Given the description of an element on the screen output the (x, y) to click on. 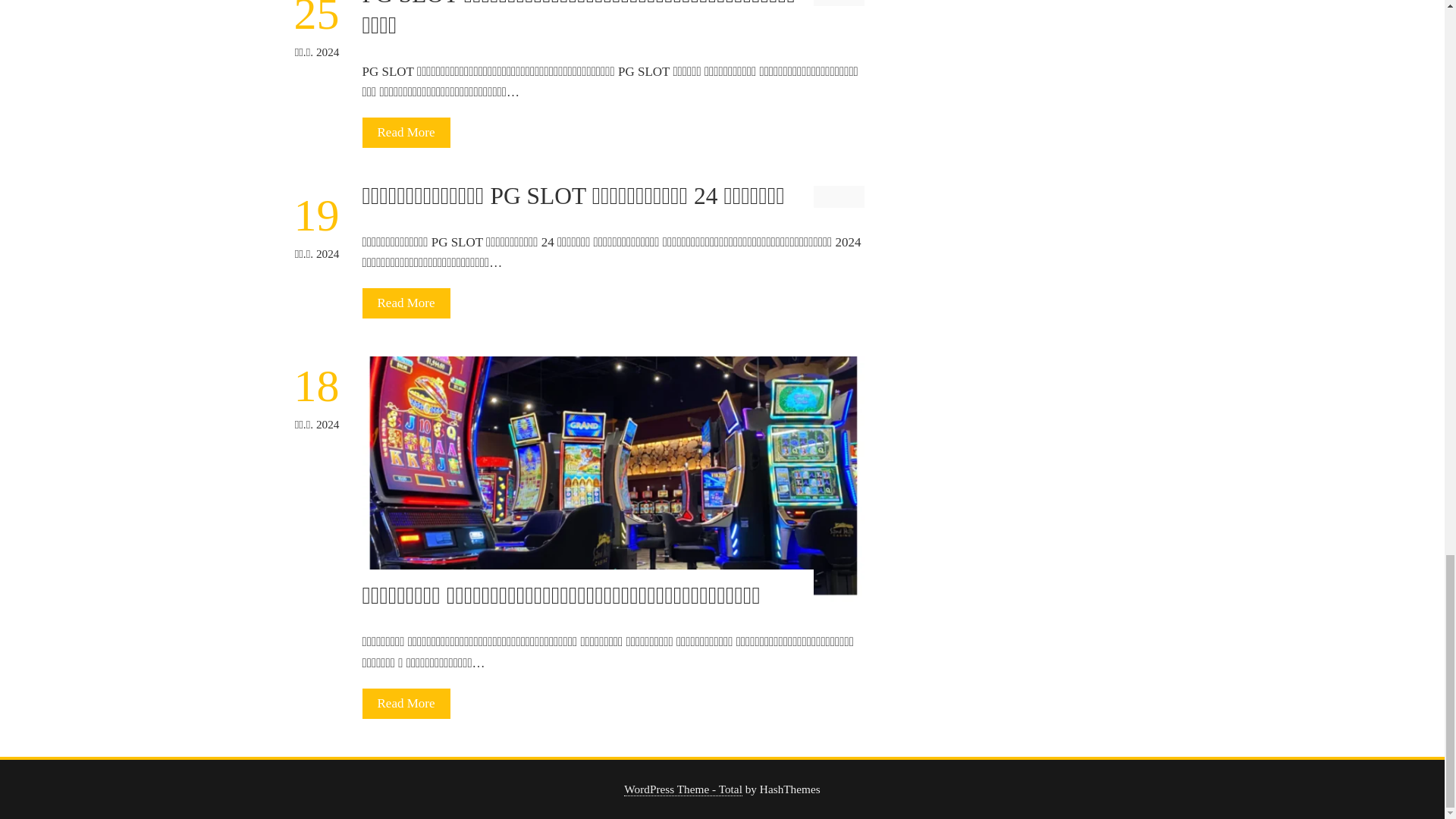
Read More (405, 132)
WordPress Theme - Total (683, 789)
Read More (405, 703)
Read More (405, 303)
